Given the description of an element on the screen output the (x, y) to click on. 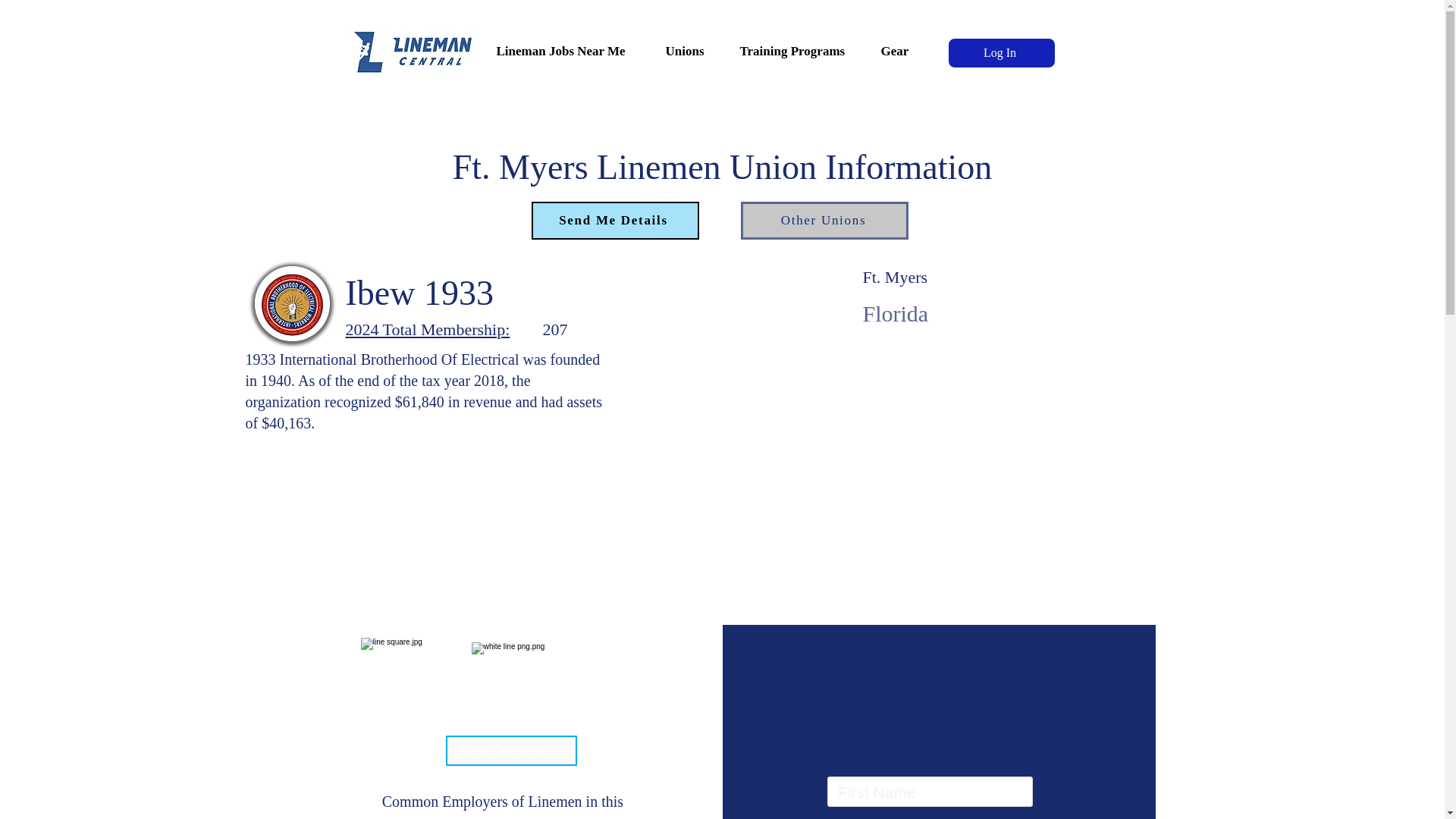
LINEMAN IBEW 1933.JPG (292, 303)
View Openings (510, 750)
Log In (1001, 52)
Gear (900, 44)
Unions (692, 44)
Other Unions (823, 220)
Training Programs (799, 44)
Send Me Details (614, 220)
Lineman Jobs Near Me (571, 44)
